Given the description of an element on the screen output the (x, y) to click on. 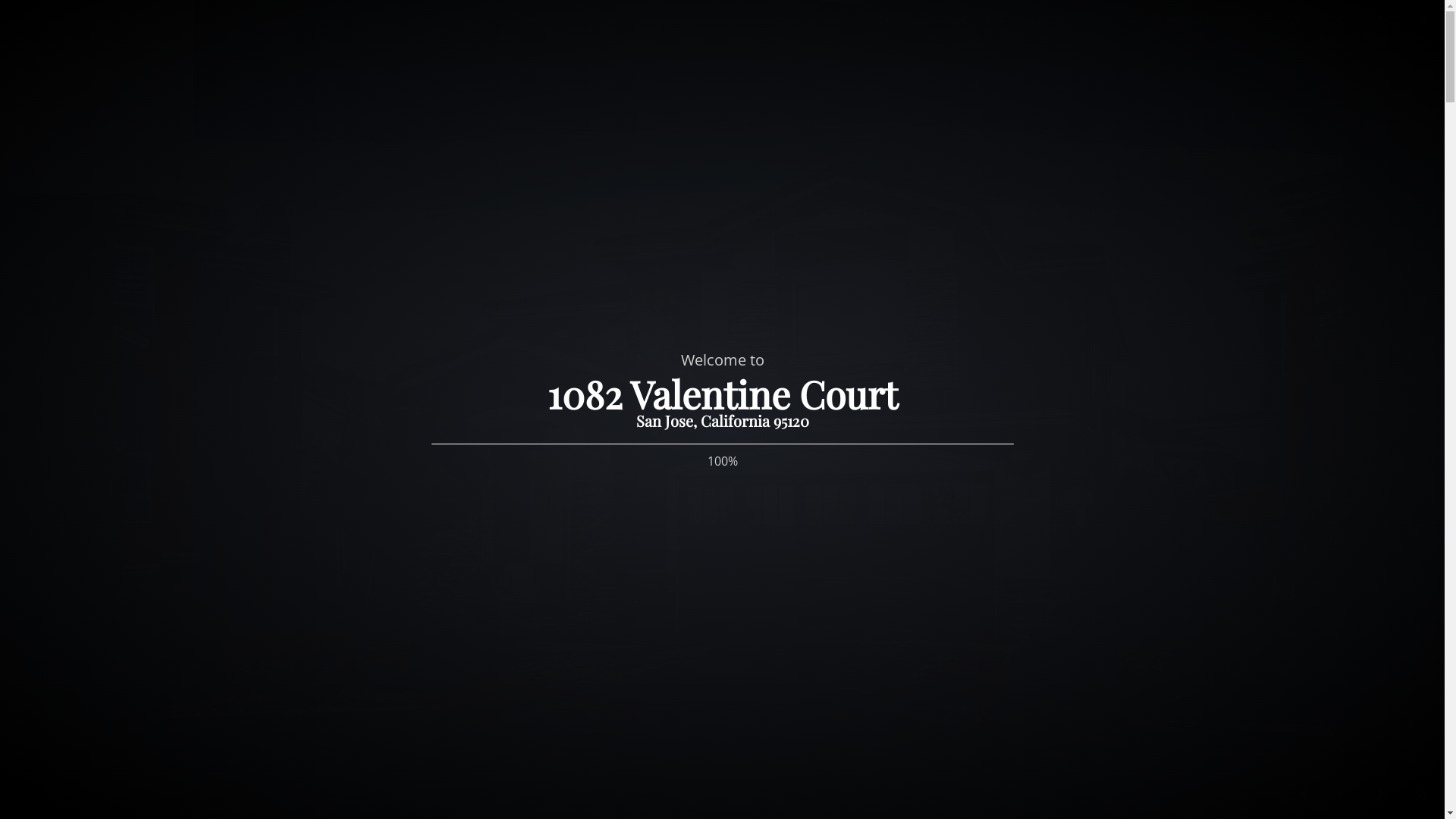
Play Music Element type: hover (1421, 20)
